Given the description of an element on the screen output the (x, y) to click on. 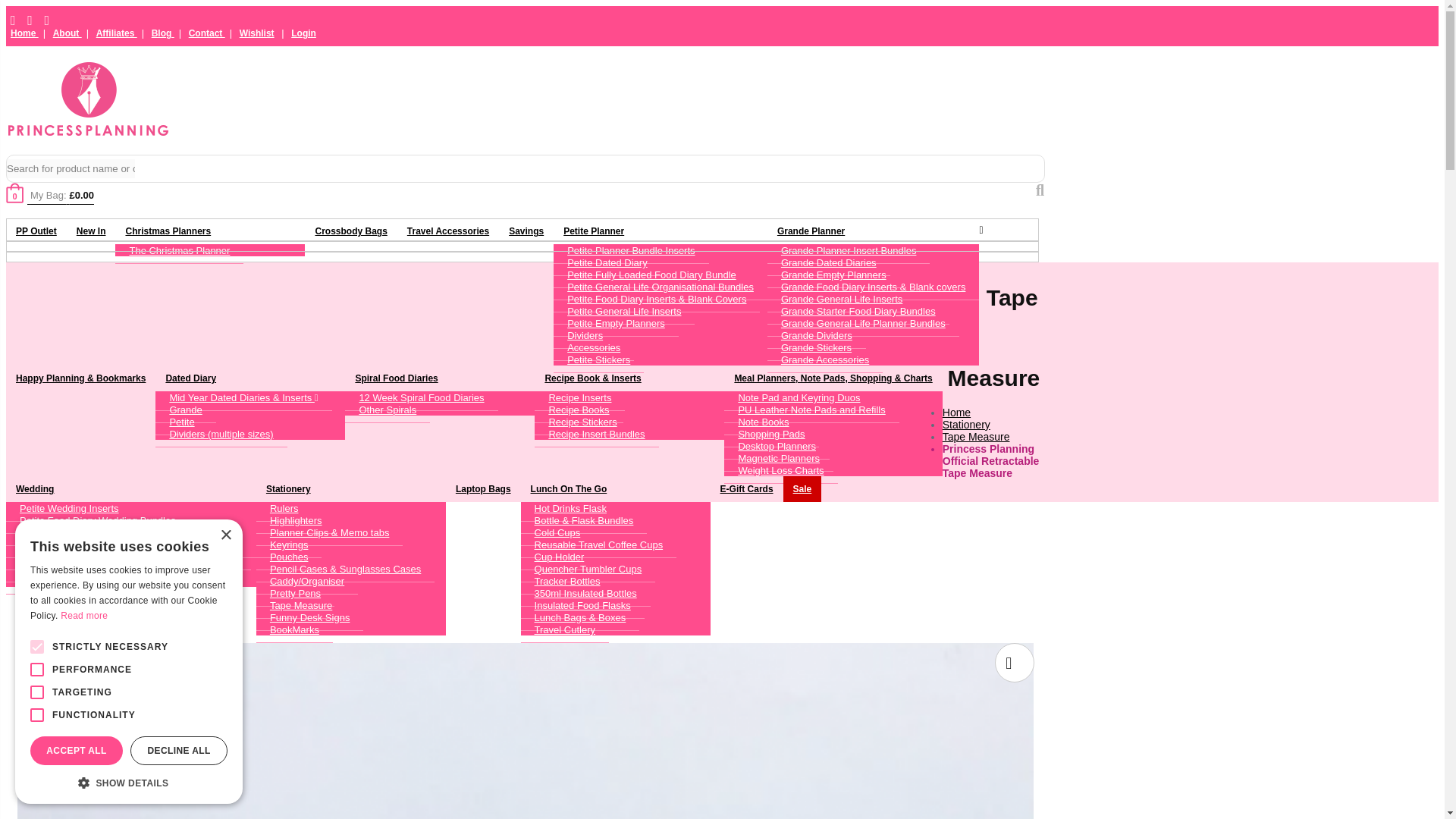
Add to wishlist (1013, 662)
